Given the description of an element on the screen output the (x, y) to click on. 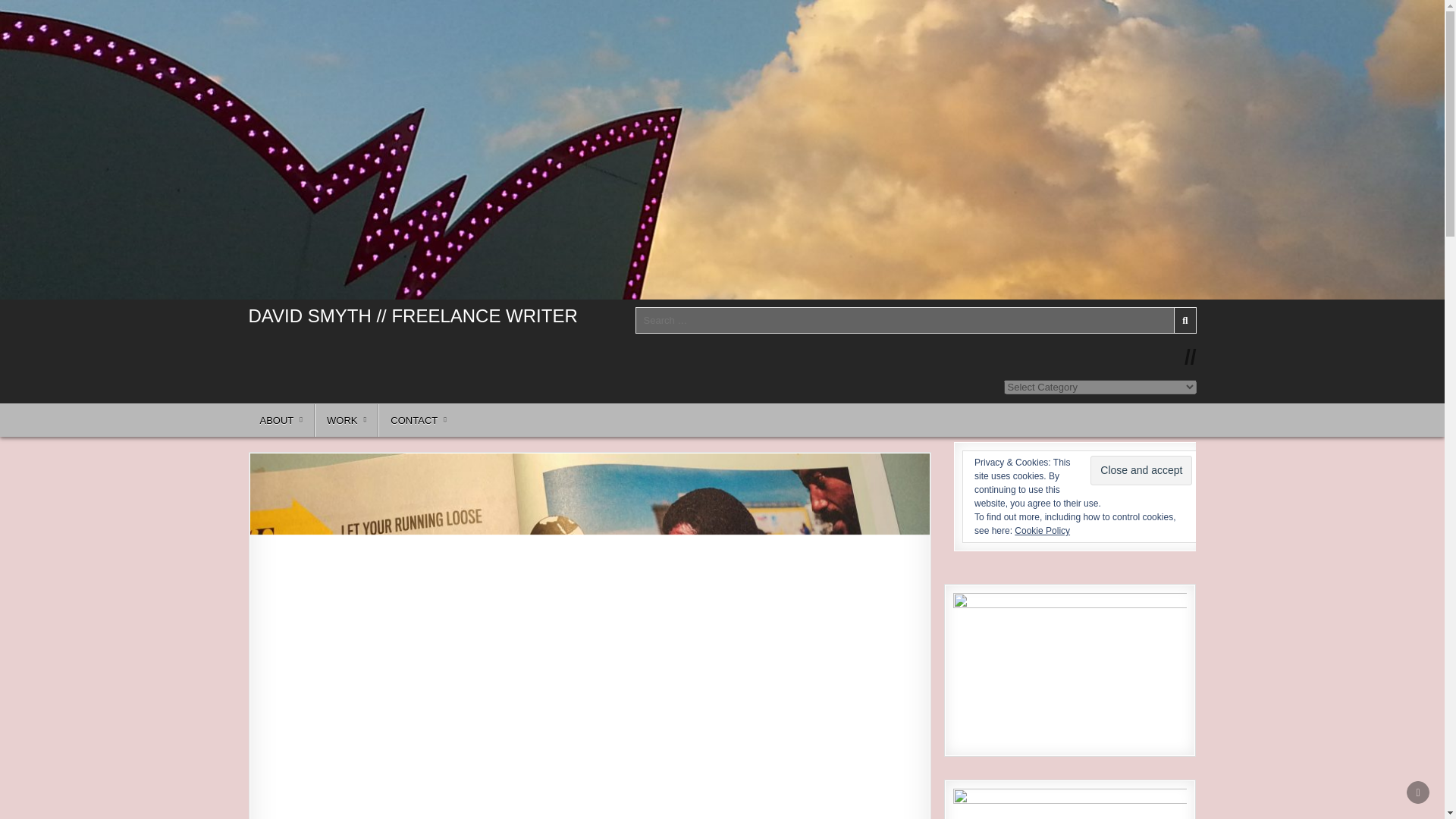
WORK (346, 420)
CONTACT (418, 420)
Close and accept (1141, 470)
SCROLL TO TOP (1417, 792)
ABOUT (281, 420)
